Given the description of an element on the screen output the (x, y) to click on. 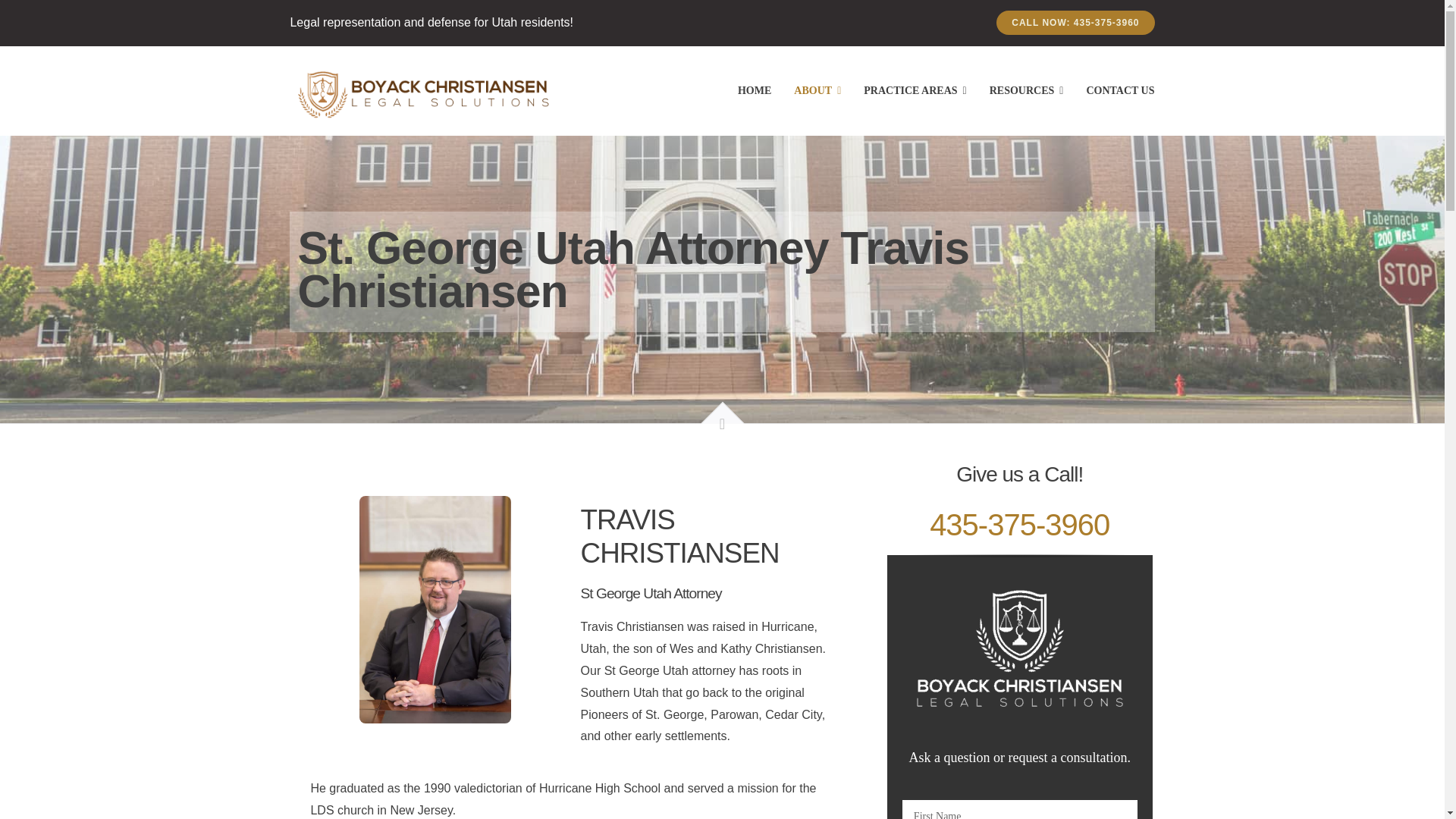
ABOUT (817, 90)
CALL NOW: 435-375-3960 (1074, 22)
Legal representation and defense for Utah residents! (431, 21)
PRACTICE AREAS (914, 90)
